Given the description of an element on the screen output the (x, y) to click on. 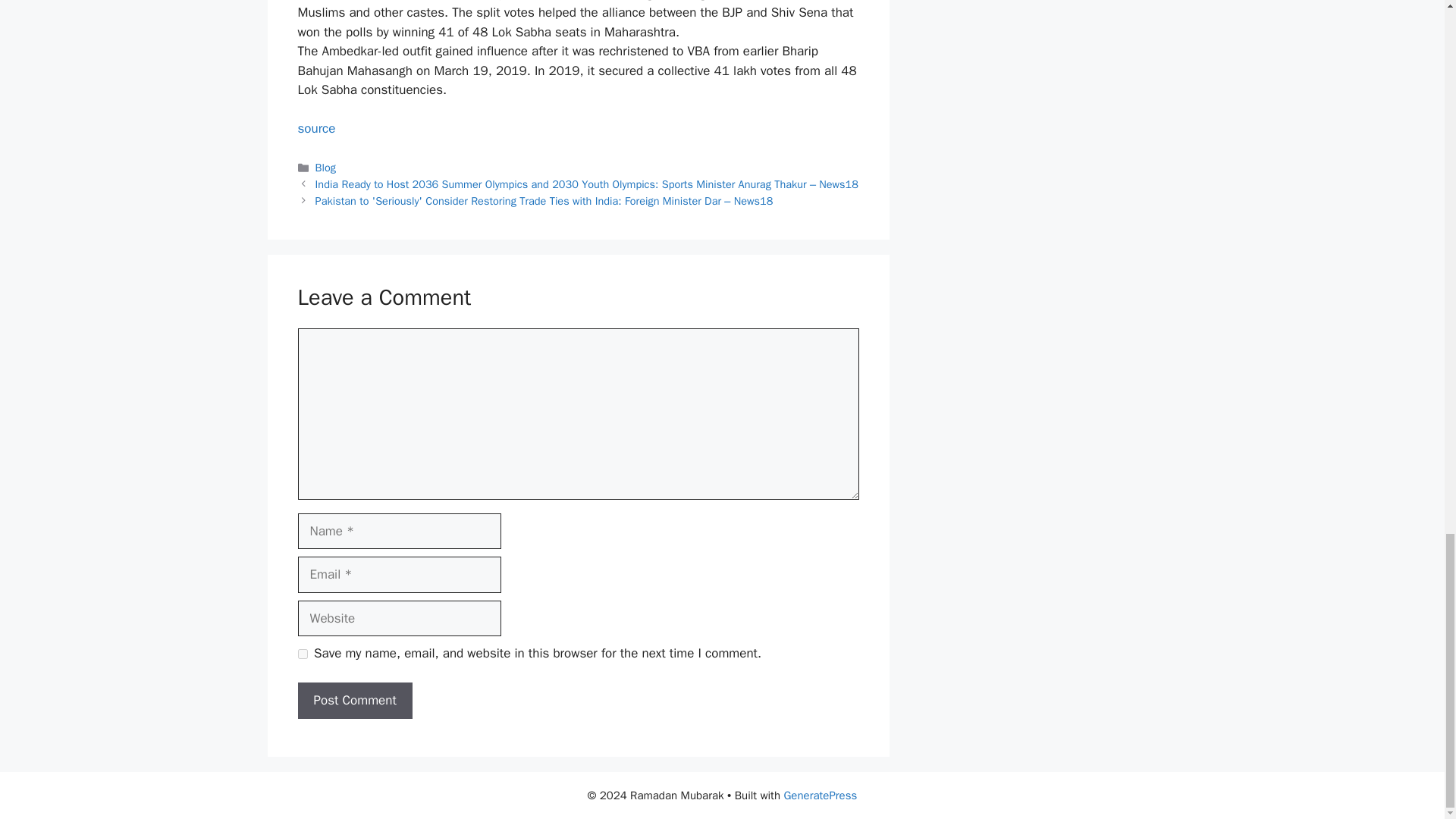
Post Comment (354, 700)
source (315, 128)
Blog (325, 167)
GeneratePress (820, 795)
Post Comment (354, 700)
yes (302, 654)
